Given the description of an element on the screen output the (x, y) to click on. 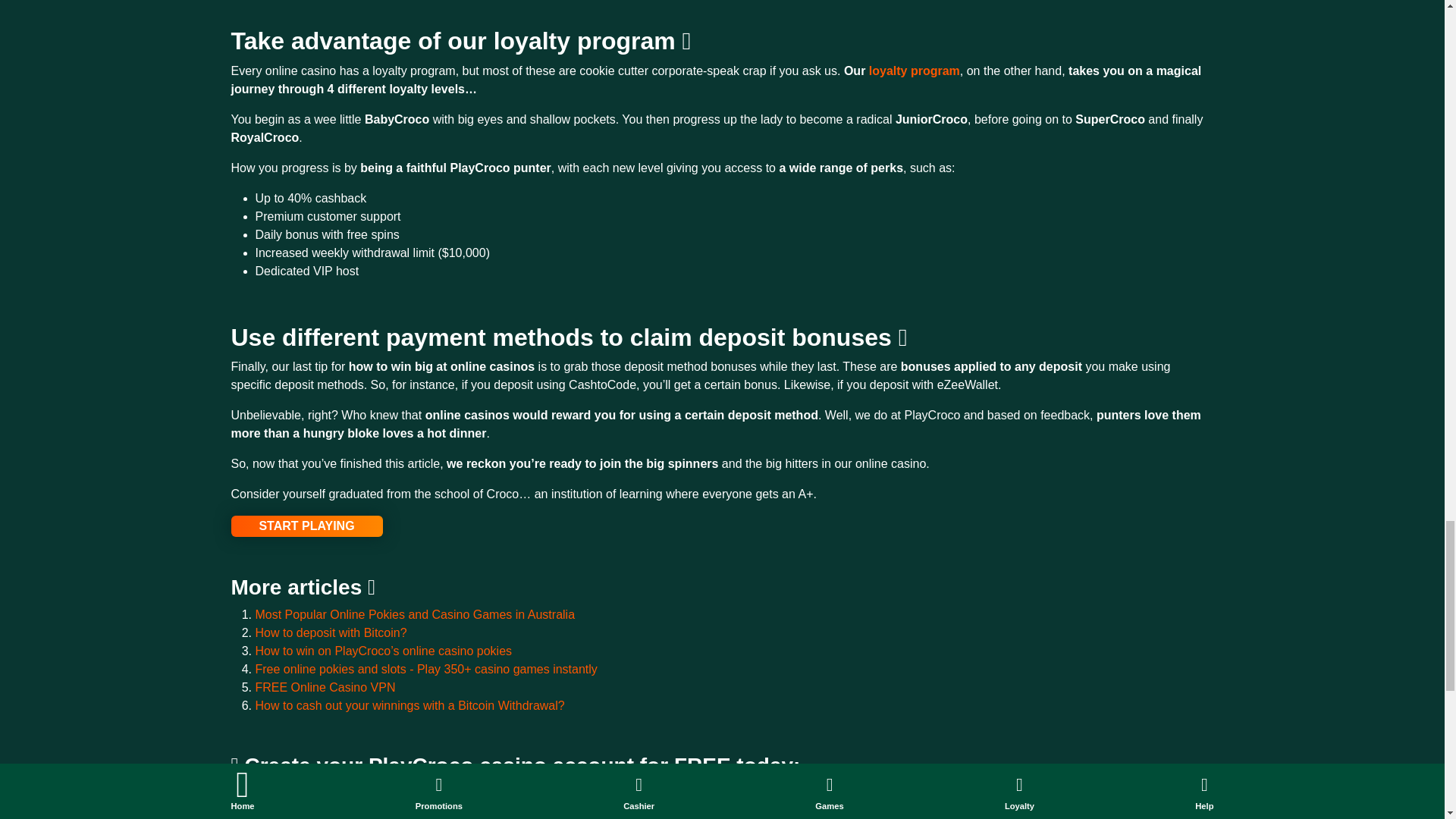
playcroco online casino sign up (305, 526)
loyalty program (914, 70)
How to cash out your winnings with a Bitcoin Withdrawal? (409, 705)
Cashier (659, 811)
FREE Online Casino VPN (324, 686)
Free online pokies and slots (425, 668)
START PLAYING (305, 526)
here (491, 793)
Most Popular Online Pokies and Casino Games in Australia (414, 614)
How to cash out your winnings with a Bitcoin Withdrawal? (409, 705)
